Given the description of an element on the screen output the (x, y) to click on. 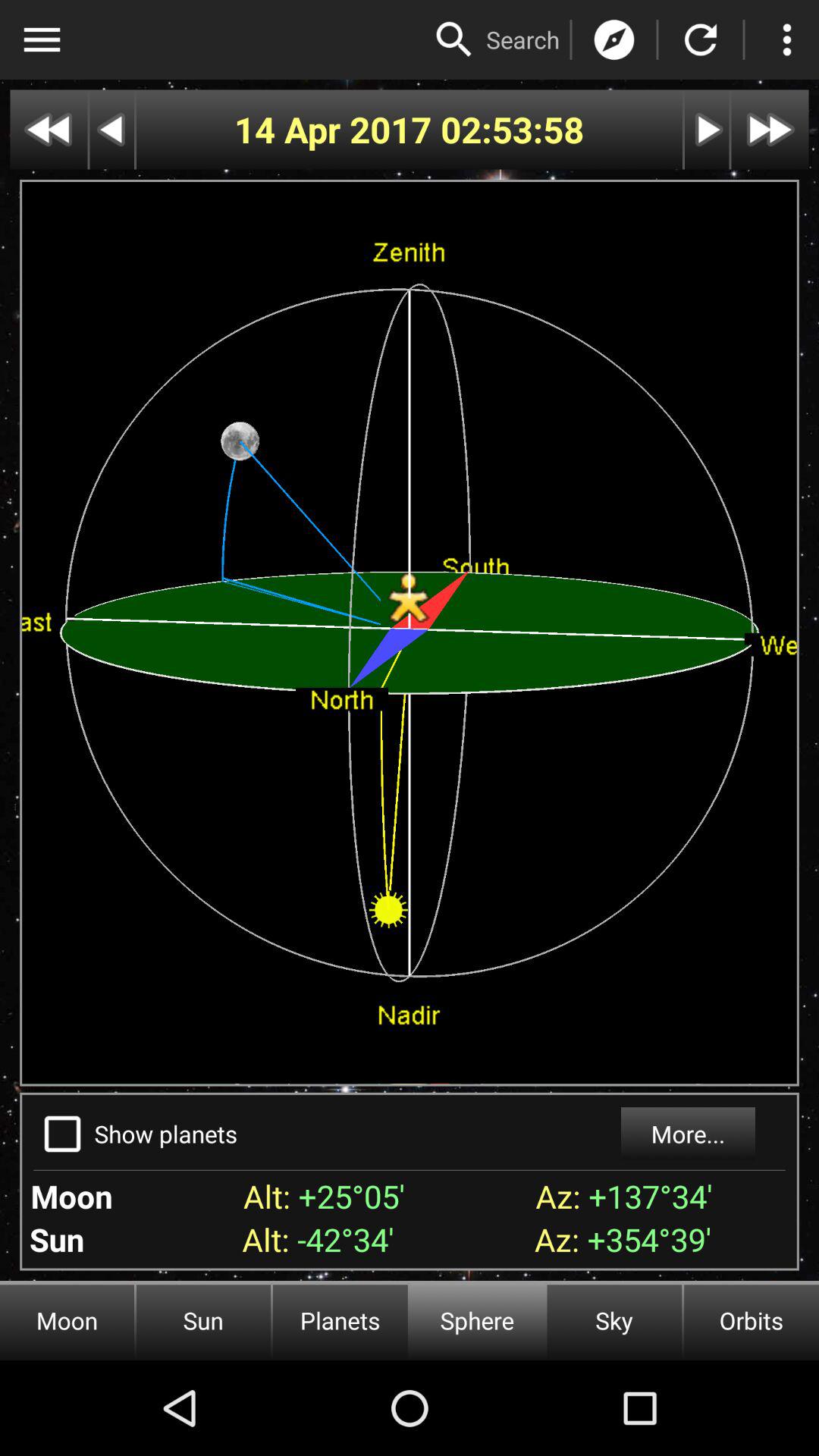
search (454, 39)
